Given the description of an element on the screen output the (x, y) to click on. 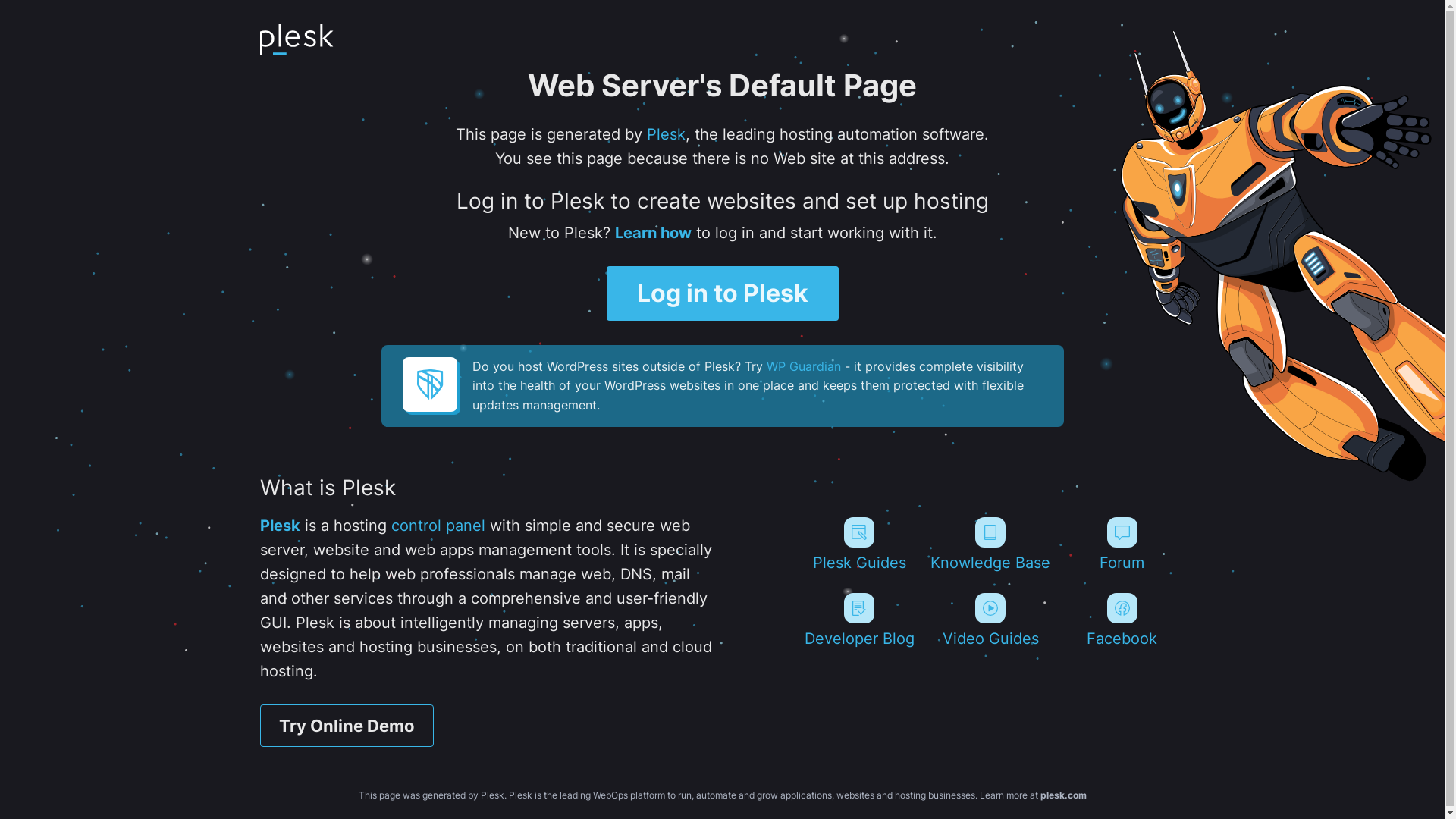
Forum Element type: text (1121, 544)
Knowledge Base Element type: text (990, 544)
WP Guardian Element type: text (802, 365)
Plesk Element type: text (665, 134)
Developer Blog Element type: text (858, 620)
Video Guides Element type: text (990, 620)
Facebook Element type: text (1121, 620)
plesk.com Element type: text (1063, 794)
Try Online Demo Element type: text (346, 725)
Log in to Plesk Element type: text (722, 293)
Plesk Guides Element type: text (858, 544)
Learn how Element type: text (652, 232)
Plesk Element type: text (279, 525)
control panel Element type: text (438, 525)
